Given the description of an element on the screen output the (x, y) to click on. 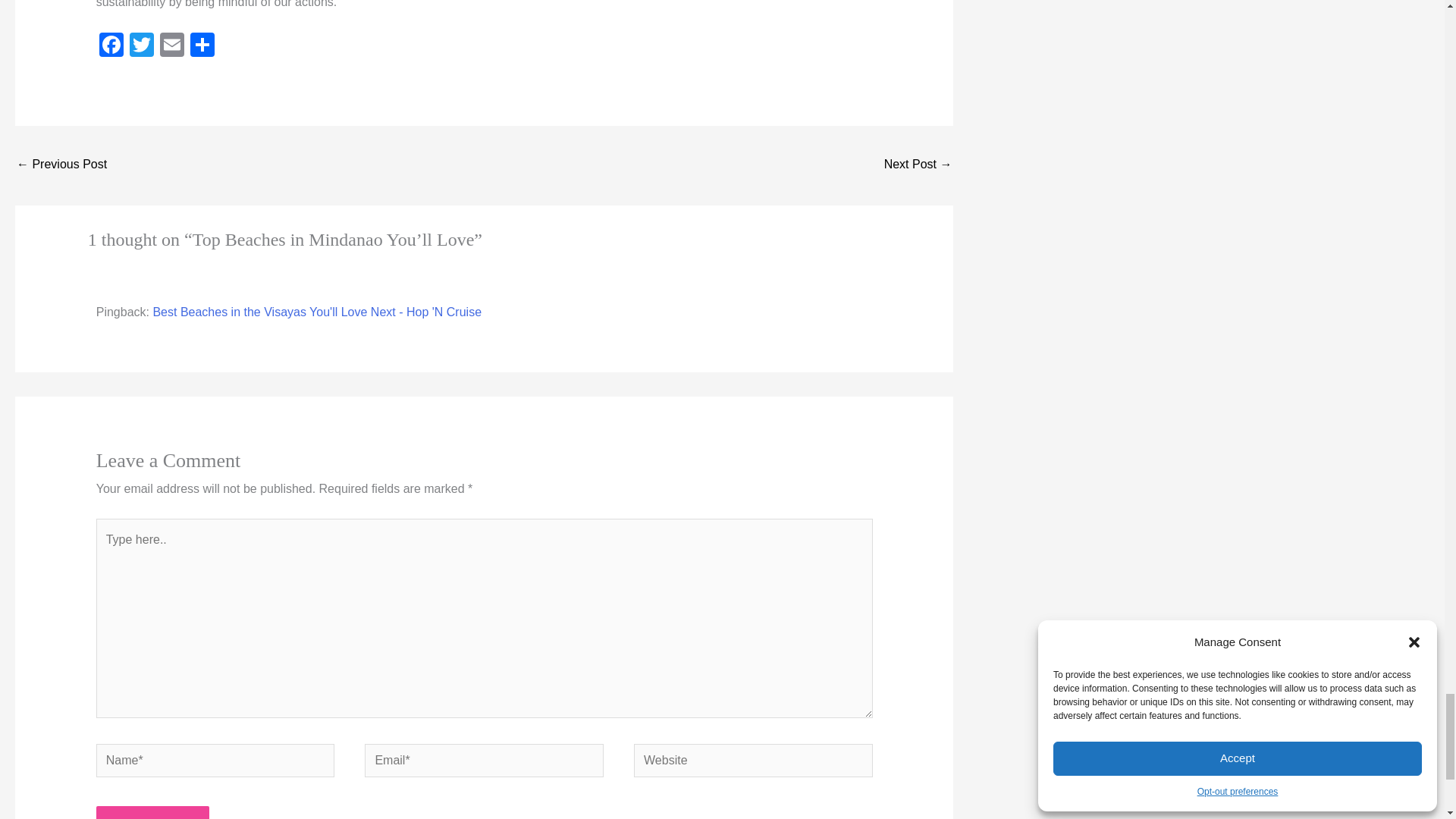
Twitter (141, 46)
Hotel Tips: How to Choose Your Accommodation (61, 165)
Bill of Rights of Air Passengers: What You Should Know (917, 165)
Facebook (111, 46)
Email (172, 46)
